Given the description of an element on the screen output the (x, y) to click on. 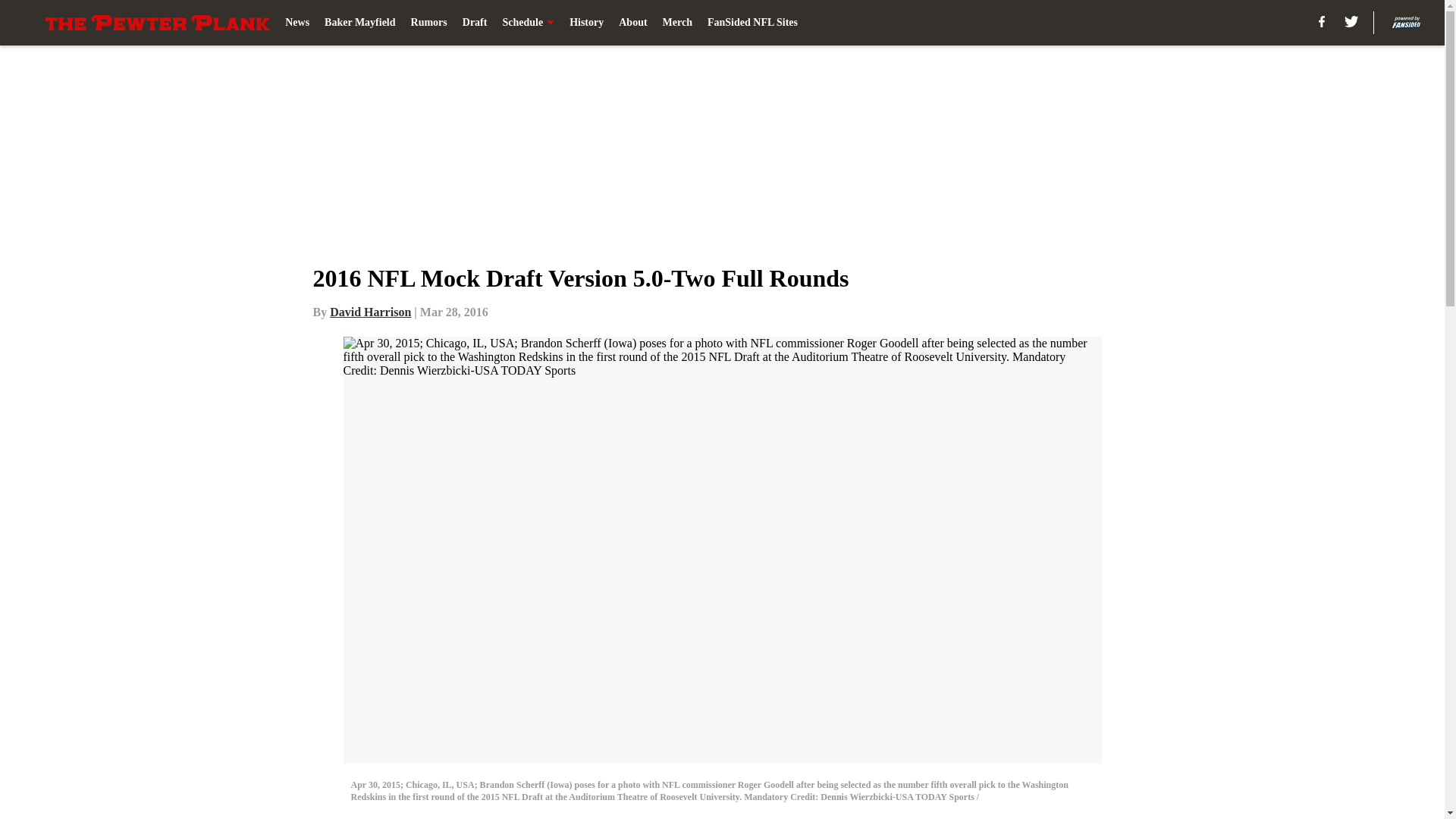
News (296, 22)
Rumors (428, 22)
Draft (475, 22)
History (586, 22)
FanSided NFL Sites (752, 22)
Merch (677, 22)
Baker Mayfield (359, 22)
About (632, 22)
David Harrison (370, 311)
